Given the description of an element on the screen output the (x, y) to click on. 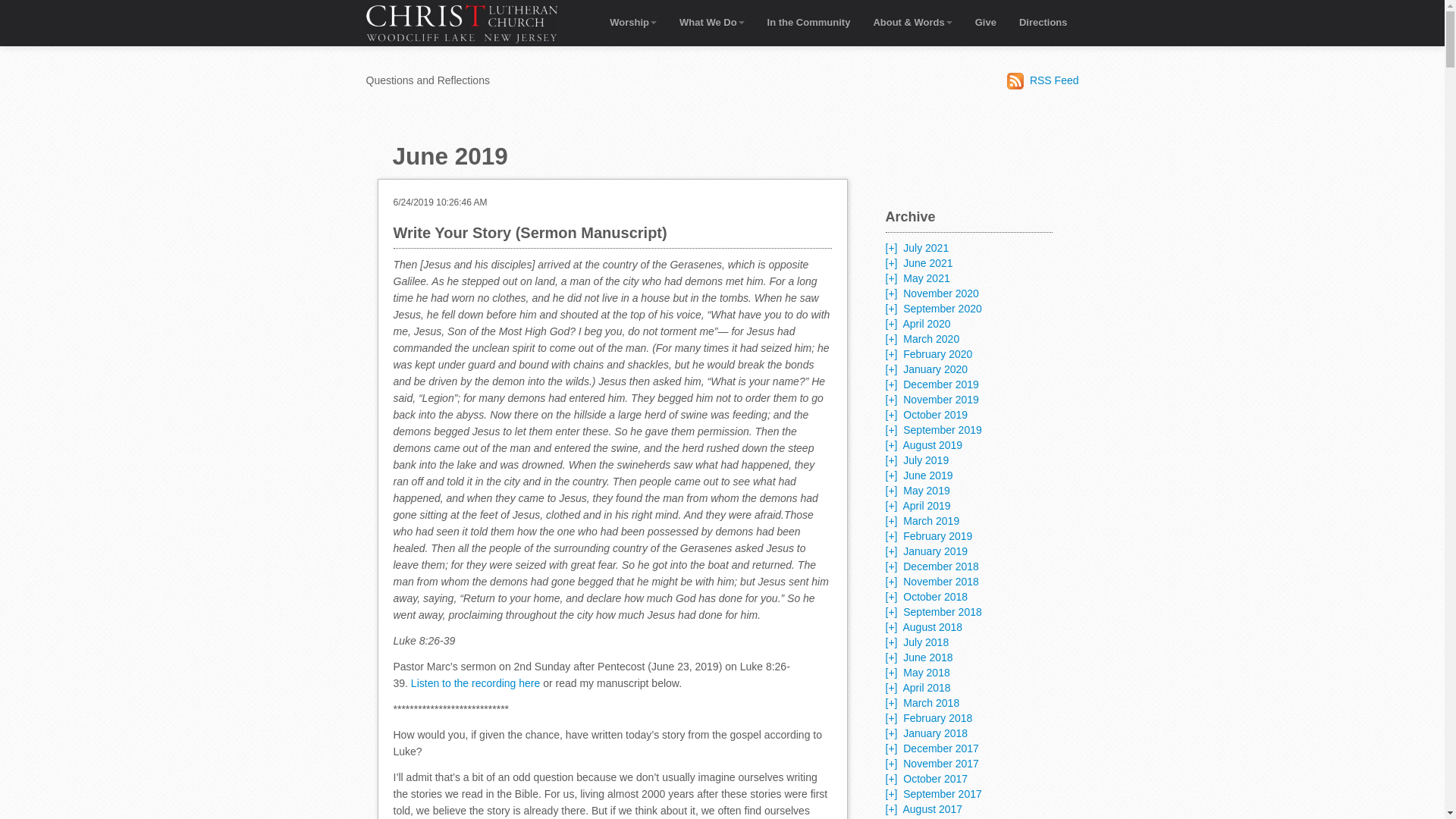
  RSS Feed (1042, 80)
Give (985, 22)
Directions (1042, 22)
In the Community (808, 22)
Listen to the recording here (475, 683)
Worship (633, 22)
What We Do (711, 22)
